Given the description of an element on the screen output the (x, y) to click on. 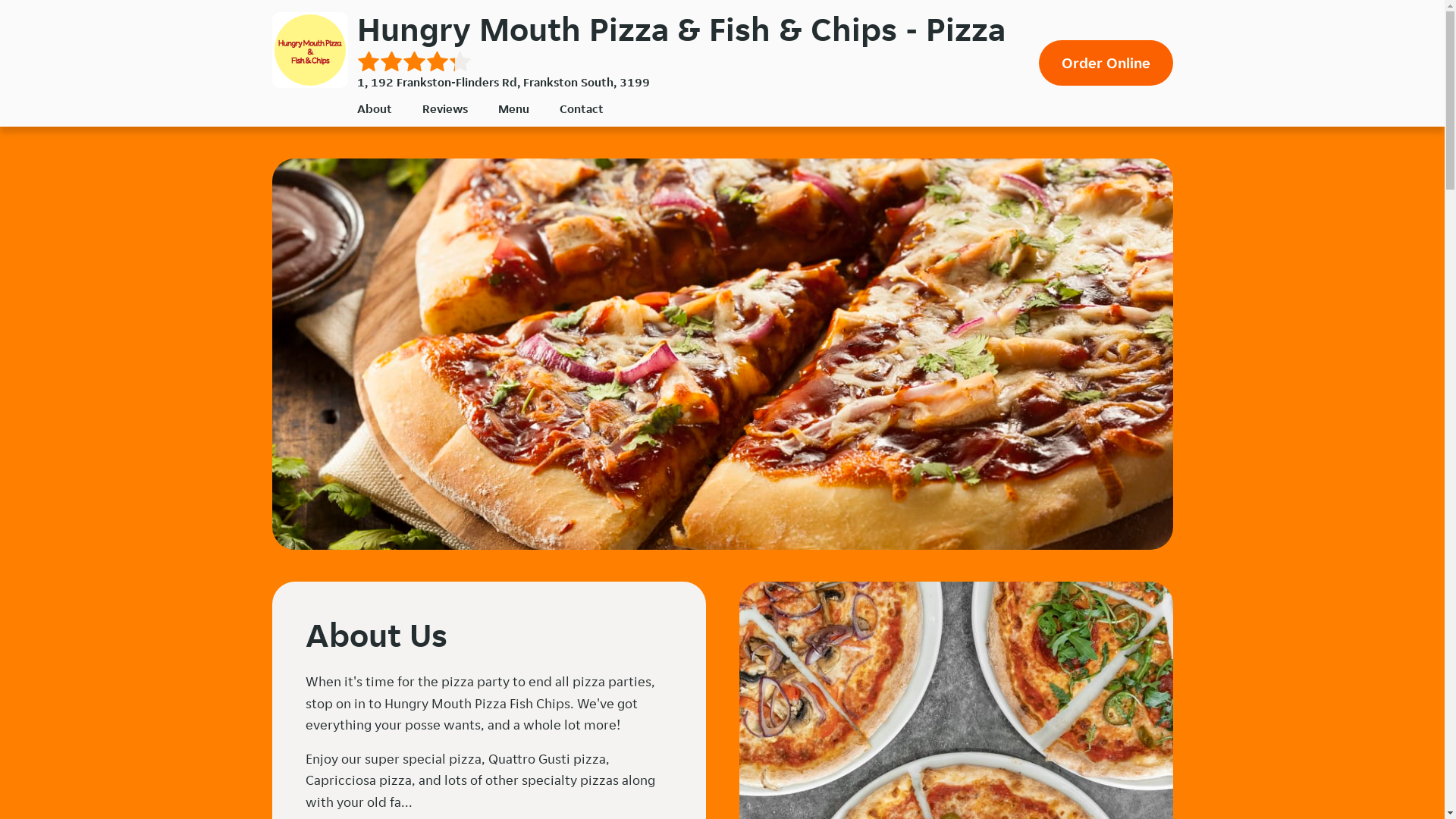
Contact Element type: text (581, 108)
Reviews Element type: text (444, 108)
Hungry Mouth Pizza & Fish & Chips Element type: hover (309, 49)
About Element type: text (373, 108)
Menu Element type: text (512, 108)
Order Online Element type: text (1105, 62)
